Given the description of an element on the screen output the (x, y) to click on. 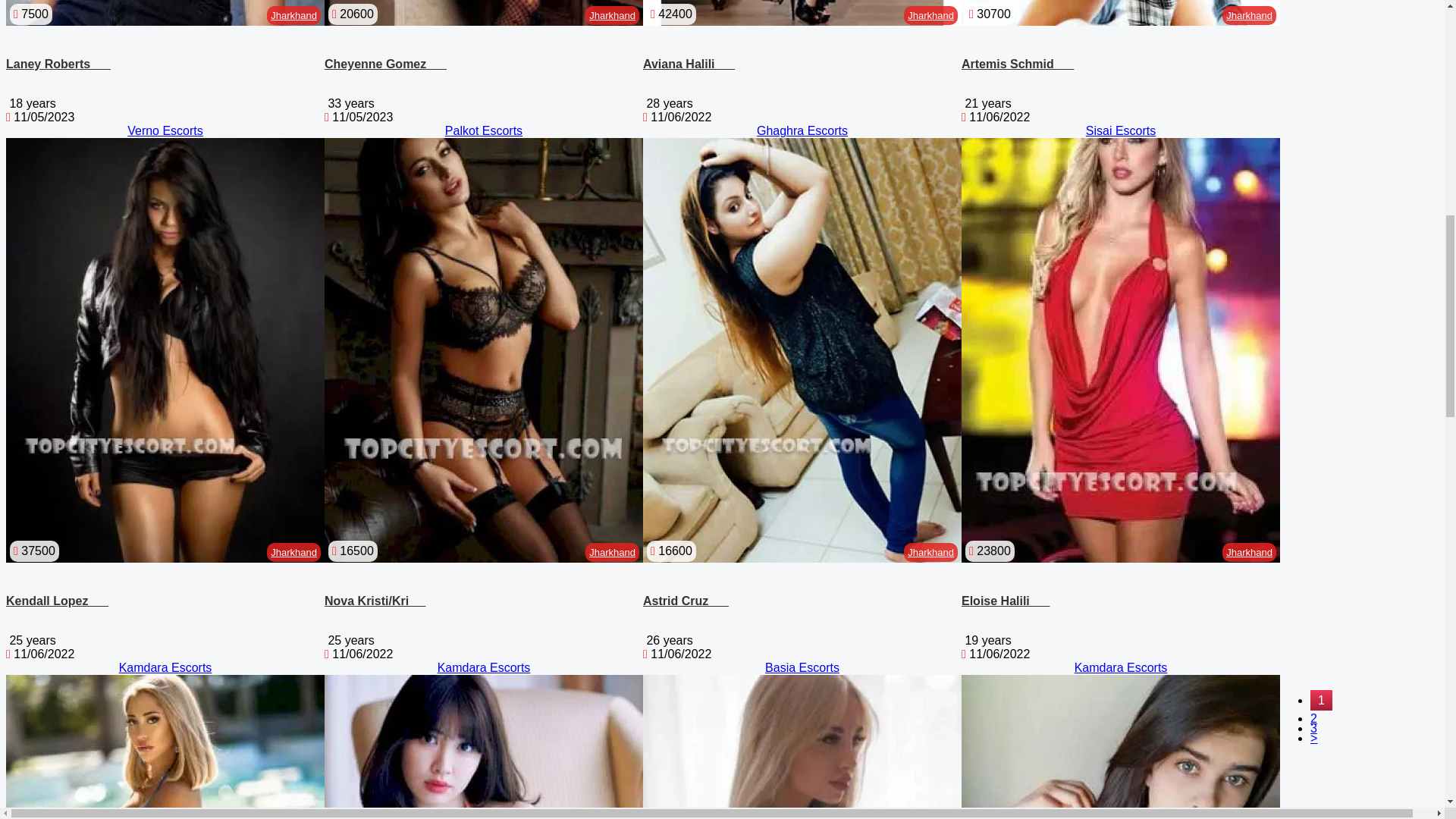
Sisai Escorts (1121, 130)
Cheyenne Gomez (385, 63)
Artemis Schmid       (1017, 63)
Laney Roberts (57, 63)
Kendall Lopez (56, 600)
Laney Roberts       (57, 63)
Eloise Halili (1004, 600)
Jharkhand (293, 552)
Aviana Halili (689, 63)
Artemis Schmid (1017, 63)
Jharkhand (293, 15)
Aviana Halili       (689, 63)
Kendall Lopez       (56, 600)
Jharkhand (611, 552)
Ghaghra Escorts (802, 130)
